Given the description of an element on the screen output the (x, y) to click on. 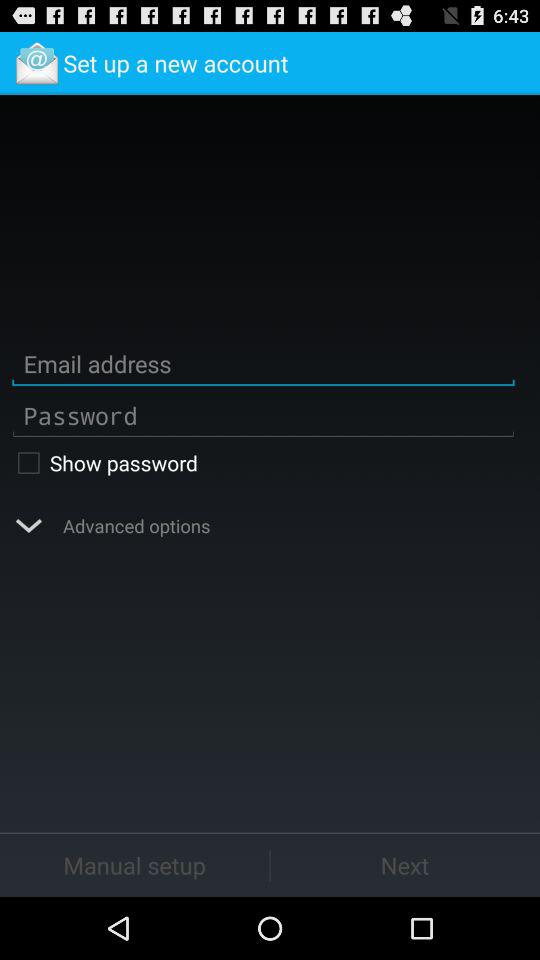
turn off button at the bottom right corner (405, 864)
